Given the description of an element on the screen output the (x, y) to click on. 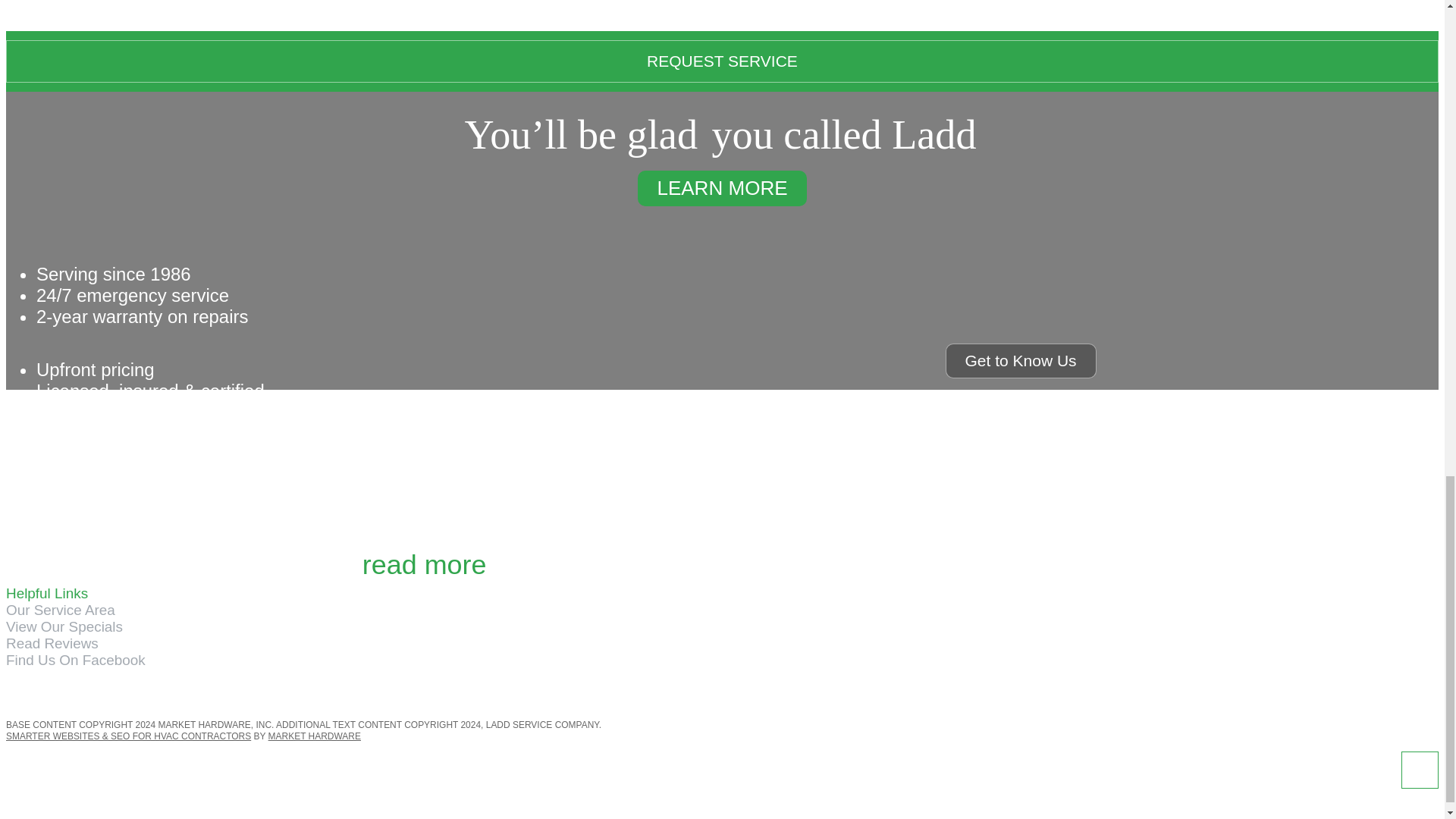
View Our Specials (63, 627)
read more (424, 564)
Get to Know Us (1020, 360)
Our Service Area (60, 610)
MARKET HARDWARE (314, 736)
Find Us On Facebook (75, 660)
Read Reviews (52, 643)
